Given the description of an element on the screen output the (x, y) to click on. 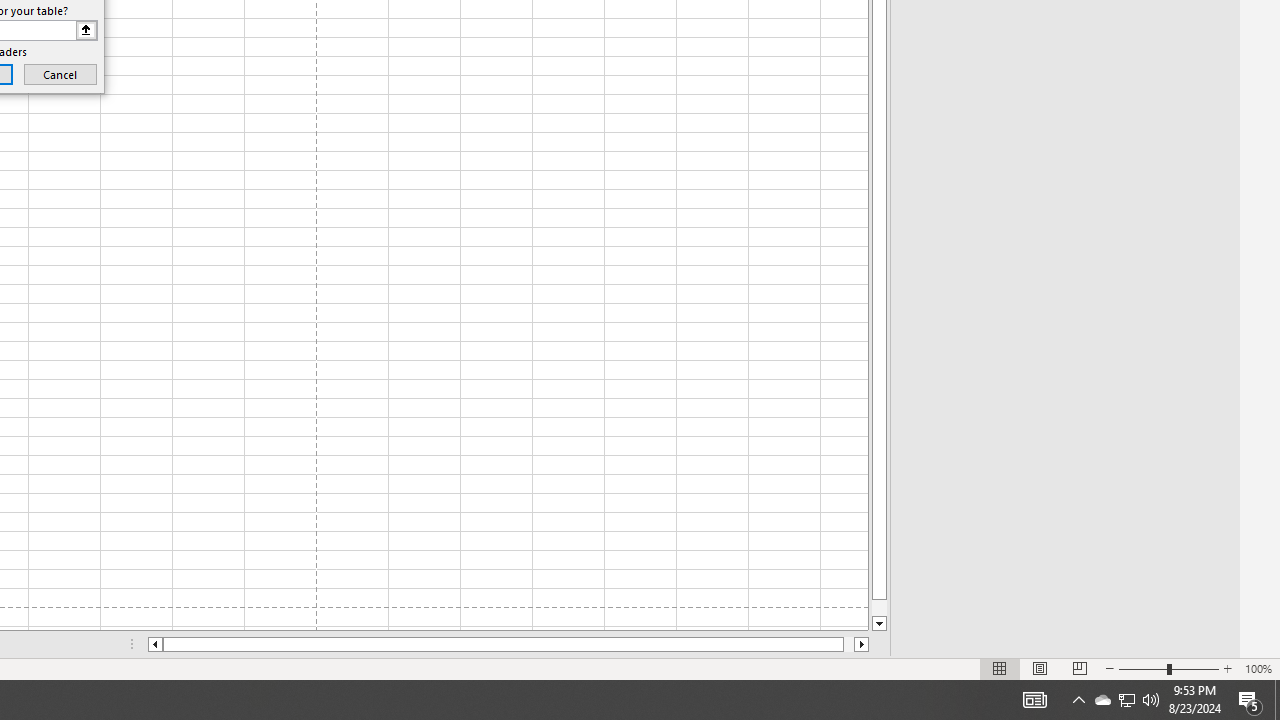
Page Break Preview (1079, 668)
Class: NetUIScrollBar (507, 644)
Zoom (1168, 668)
Column right (861, 644)
Zoom Out (1142, 668)
Page right (848, 644)
Line down (879, 624)
Zoom In (1227, 668)
Page down (879, 607)
Column left (153, 644)
